Given the description of an element on the screen output the (x, y) to click on. 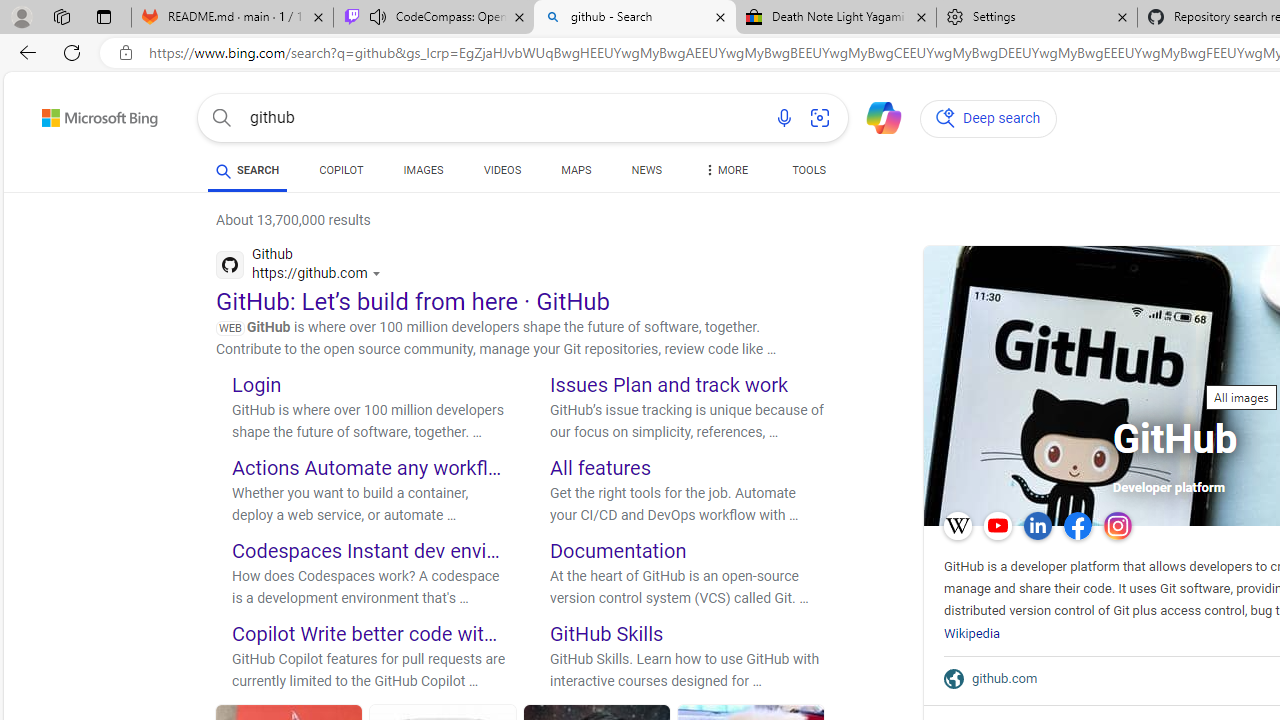
TOOLS (808, 173)
Skip to content (64, 111)
Instagram (1117, 525)
MORE (724, 173)
Search using voice (783, 117)
Back to Bing search (87, 113)
Github (303, 267)
SEARCH (247, 170)
